Given the description of an element on the screen output the (x, y) to click on. 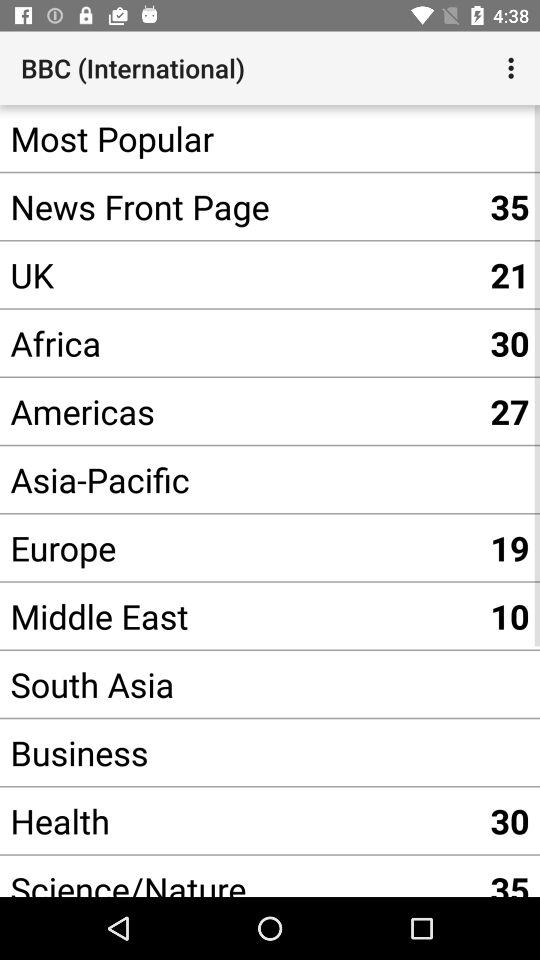
click the icon above 30 (240, 752)
